Given the description of an element on the screen output the (x, y) to click on. 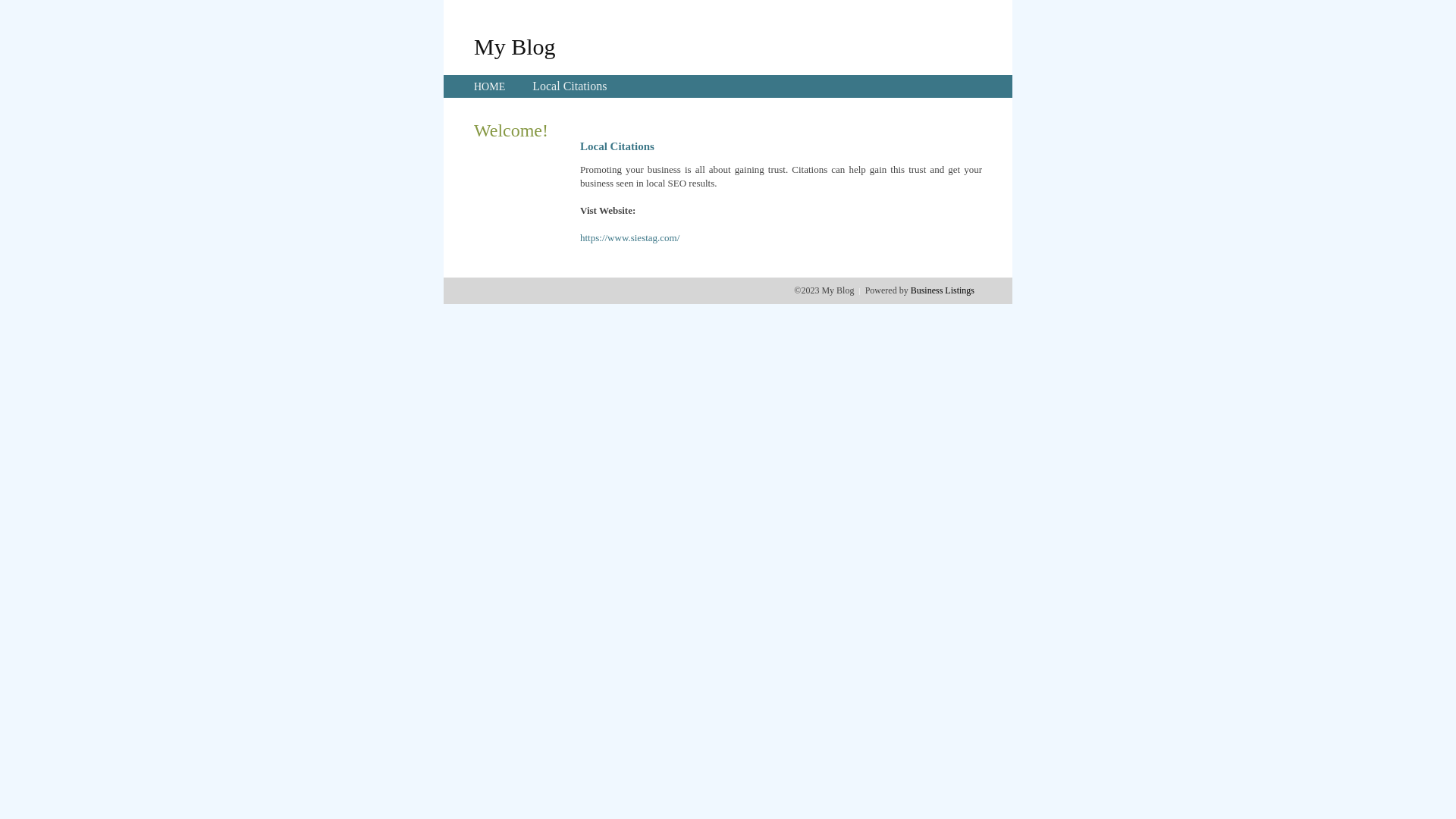
https://www.siestag.com/ Element type: text (629, 237)
My Blog Element type: text (514, 46)
HOME Element type: text (489, 86)
Business Listings Element type: text (942, 290)
Local Citations Element type: text (569, 85)
